Given the description of an element on the screen output the (x, y) to click on. 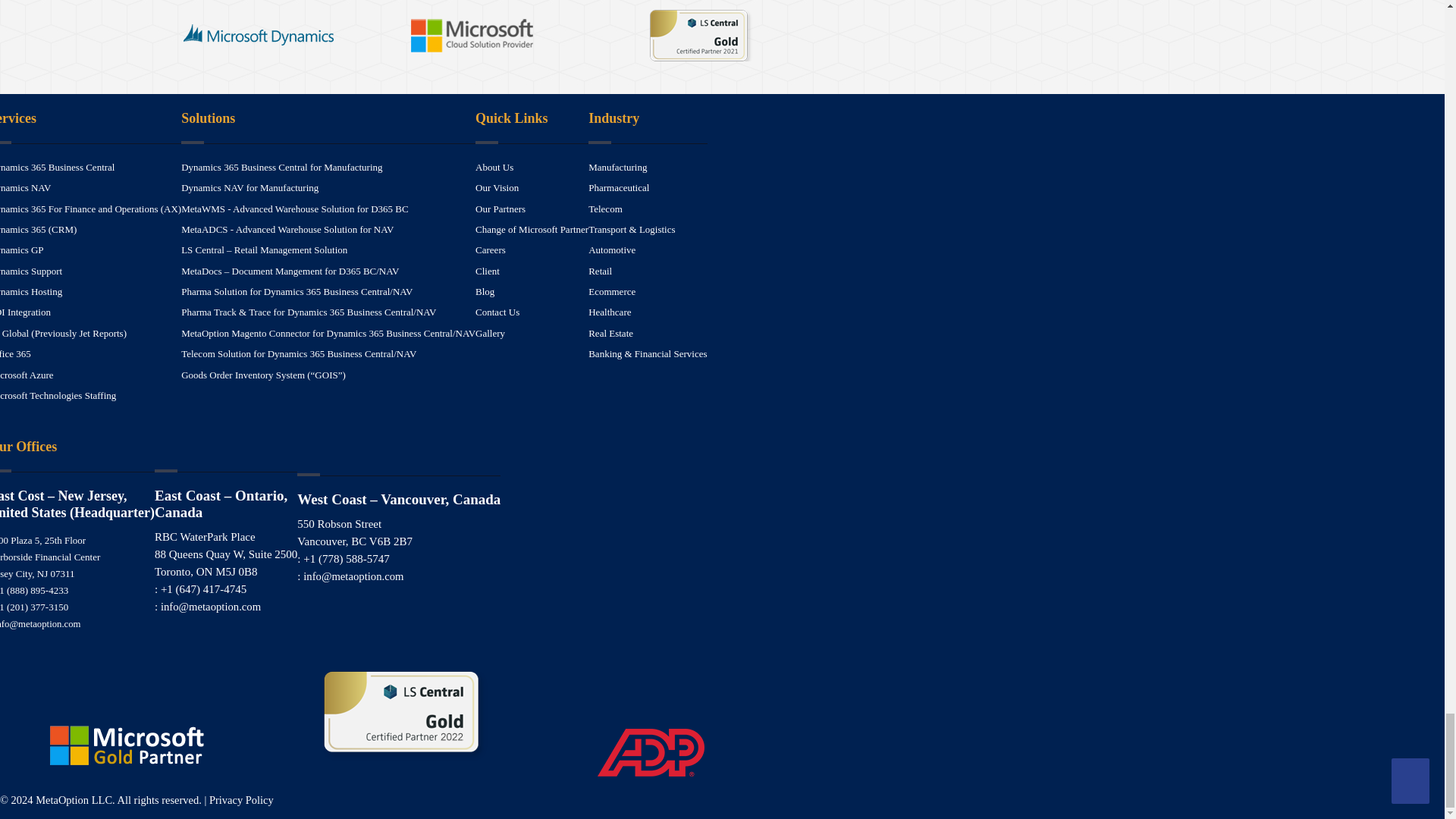
Dynamics Support (31, 270)
A new NAV for a new era (25, 187)
Dynamics GP (21, 249)
Dynamics 365 Business Central (57, 166)
